Given the description of an element on the screen output the (x, y) to click on. 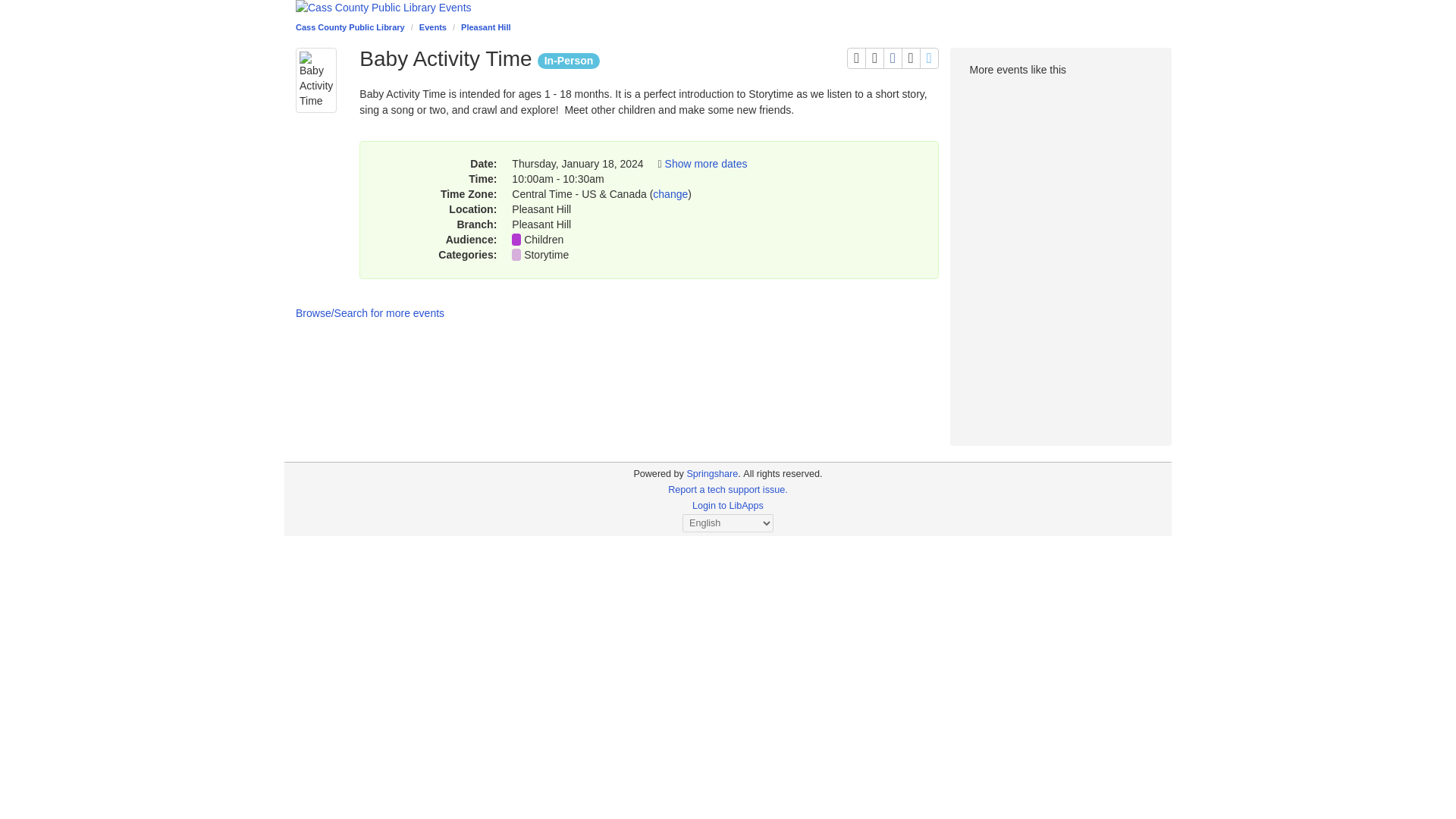
Report a tech support issue. (727, 489)
Springshare (711, 473)
Events (432, 26)
Children (543, 239)
Cass County Public Library Events (727, 7)
Pleasant Hill (486, 26)
change (669, 193)
Cass County Public Library (349, 26)
Login to LibApps (929, 57)
